Given the description of an element on the screen output the (x, y) to click on. 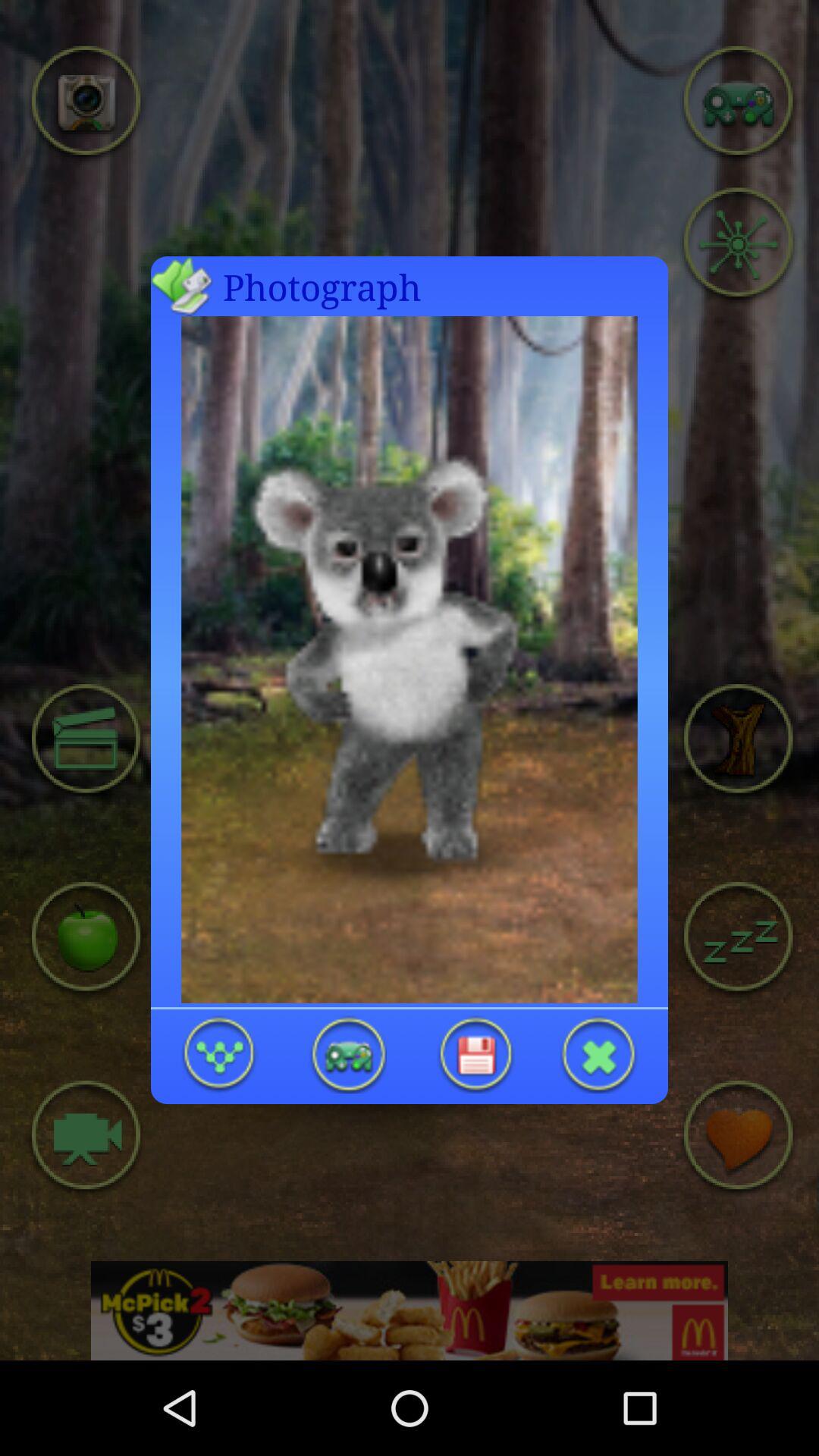
exite photo (599, 1054)
